Given the description of an element on the screen output the (x, y) to click on. 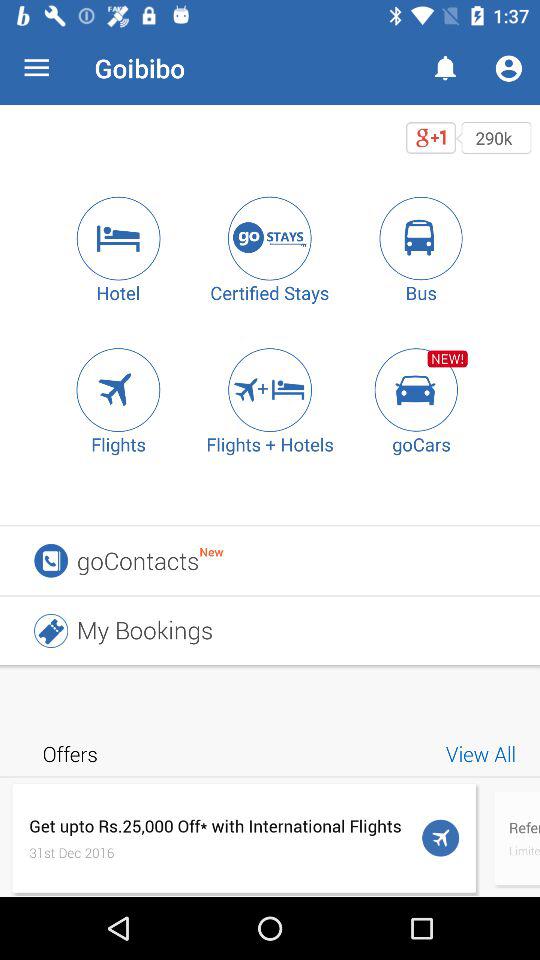
select a bus (421, 238)
